Given the description of an element on the screen output the (x, y) to click on. 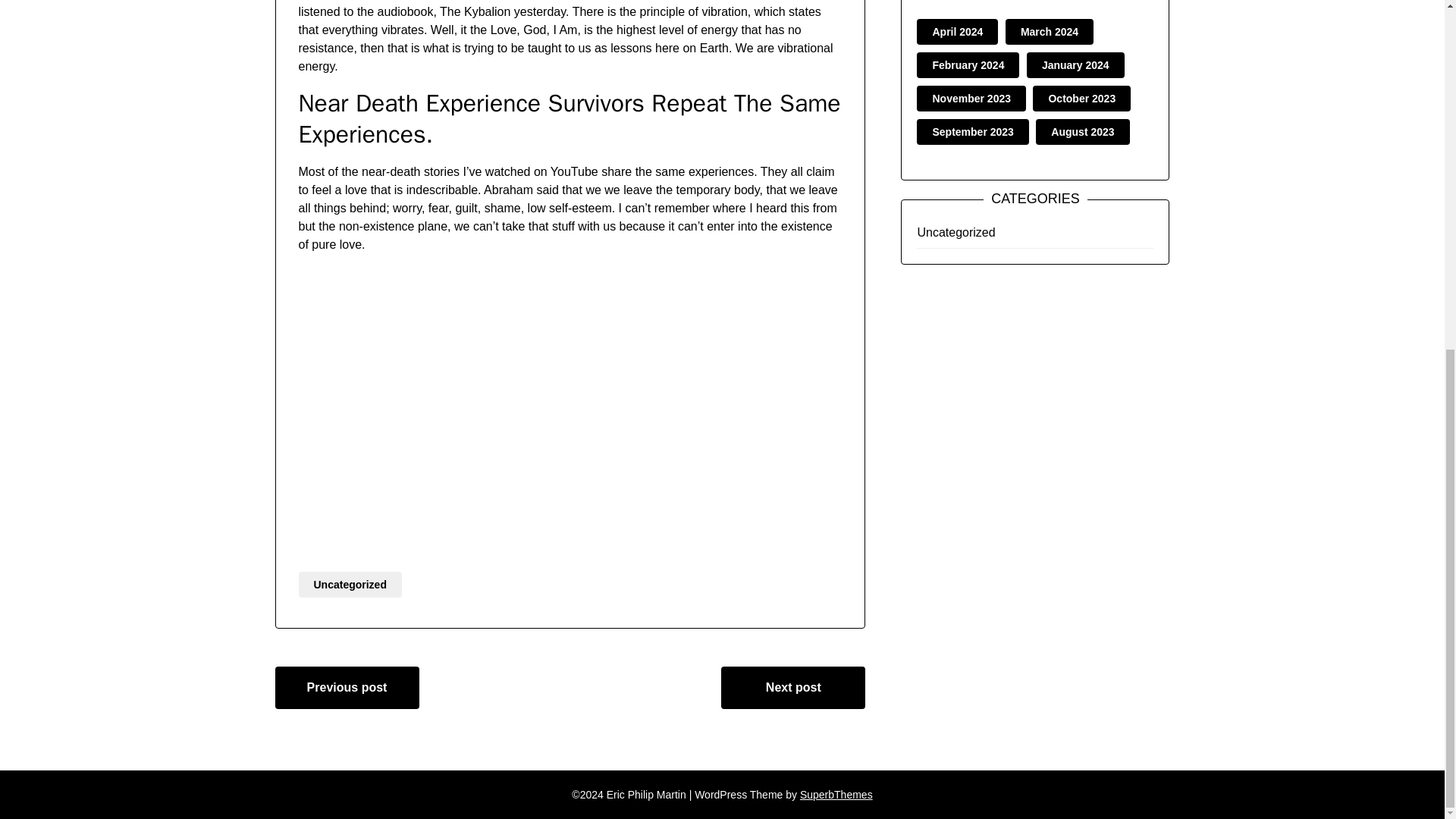
November 2023 (970, 98)
August 2023 (1082, 132)
Next post (792, 687)
October 2023 (1081, 98)
Uncategorized (955, 232)
January 2024 (1075, 64)
Uncategorized (349, 584)
March 2024 (1049, 31)
September 2023 (972, 132)
April 2024 (956, 31)
